Given the description of an element on the screen output the (x, y) to click on. 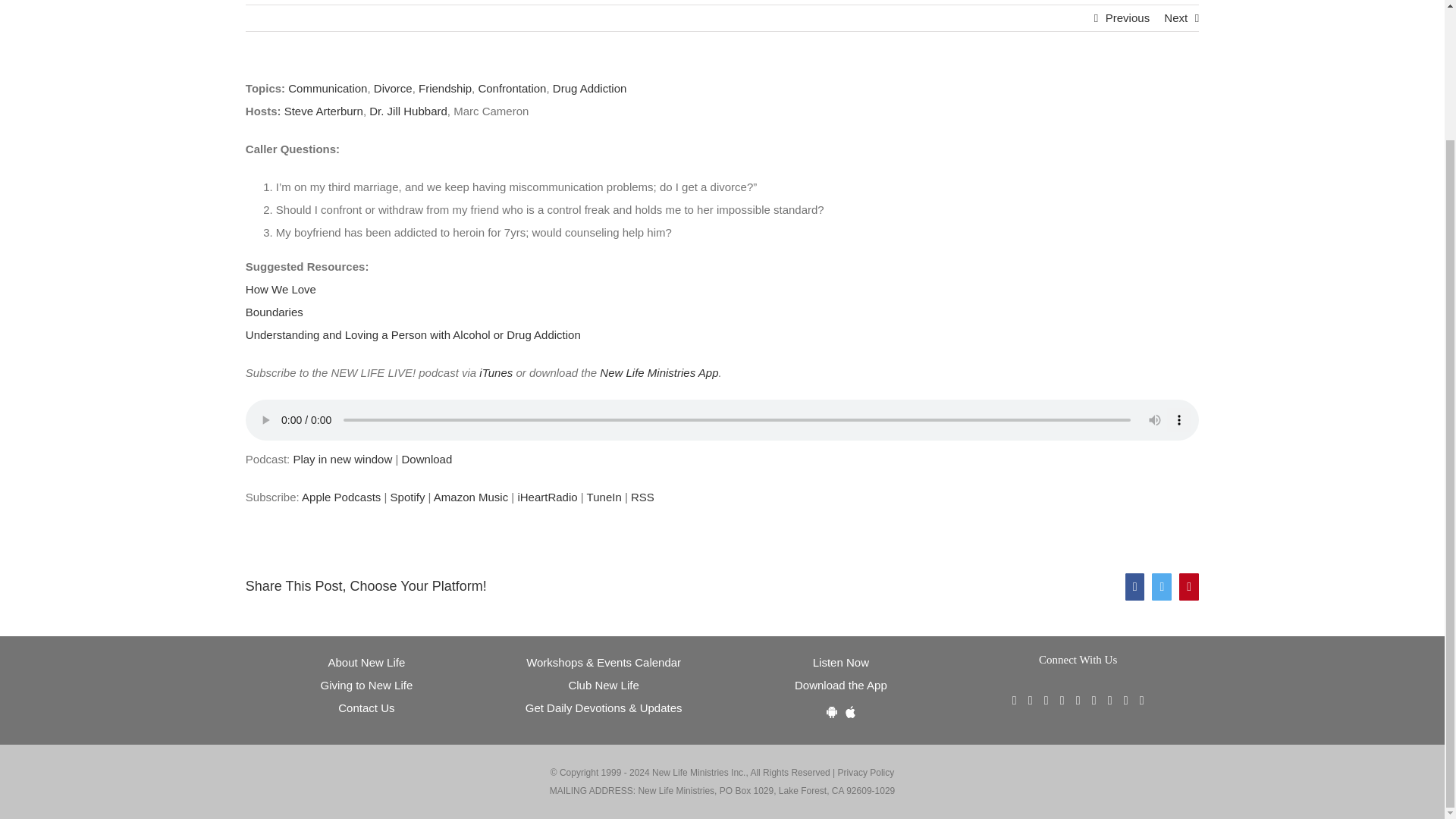
Communication (327, 88)
Divorce (393, 88)
Confrontation (511, 88)
Subscribe on Apple Podcasts (340, 496)
Subscribe on Spotify (407, 496)
Download (426, 459)
Friendship (445, 88)
New Life Ministries App (658, 372)
Boundaries (274, 311)
